Given the description of an element on the screen output the (x, y) to click on. 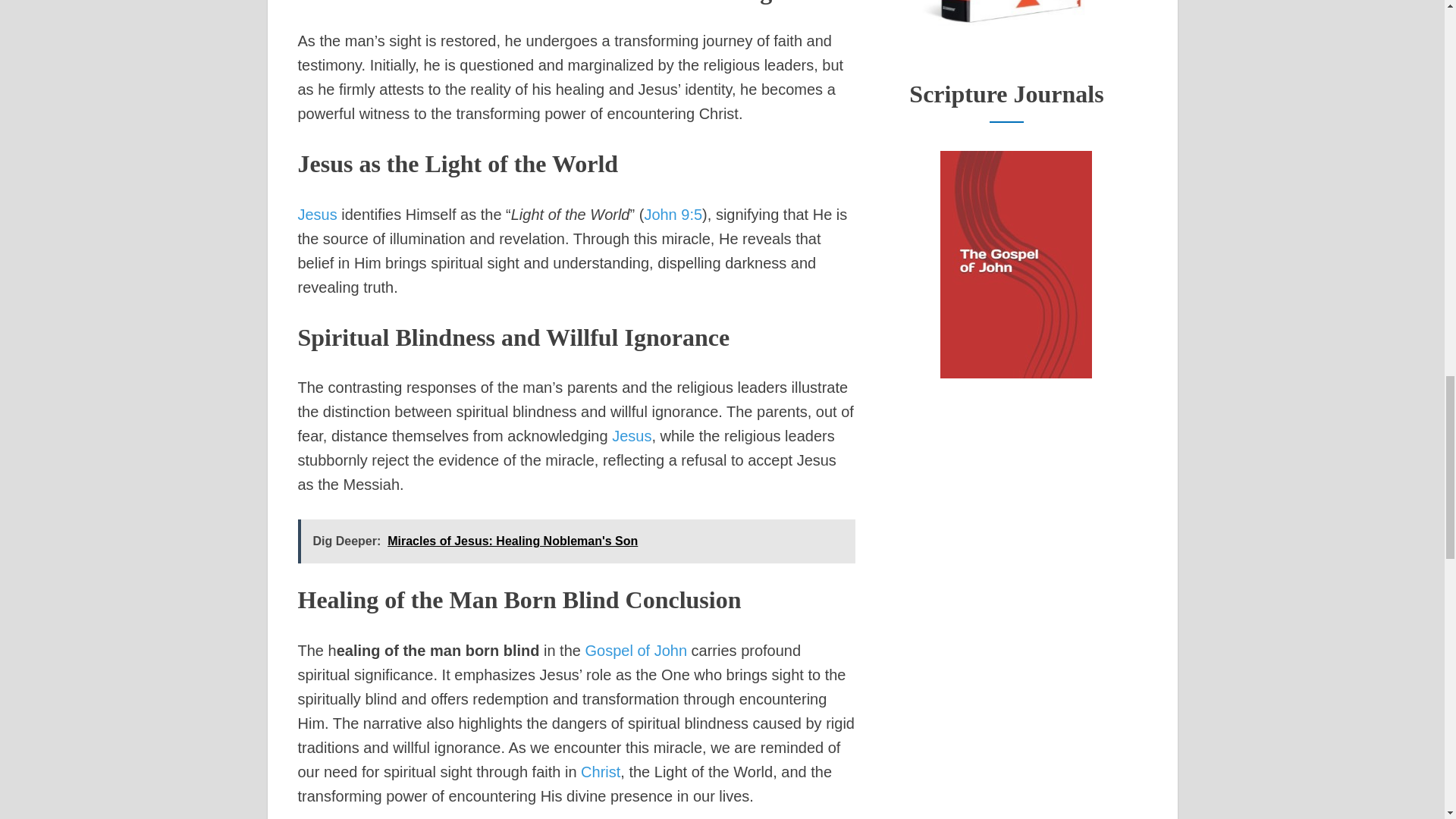
John 9:5 (672, 214)
Jesus (316, 214)
